Given the description of an element on the screen output the (x, y) to click on. 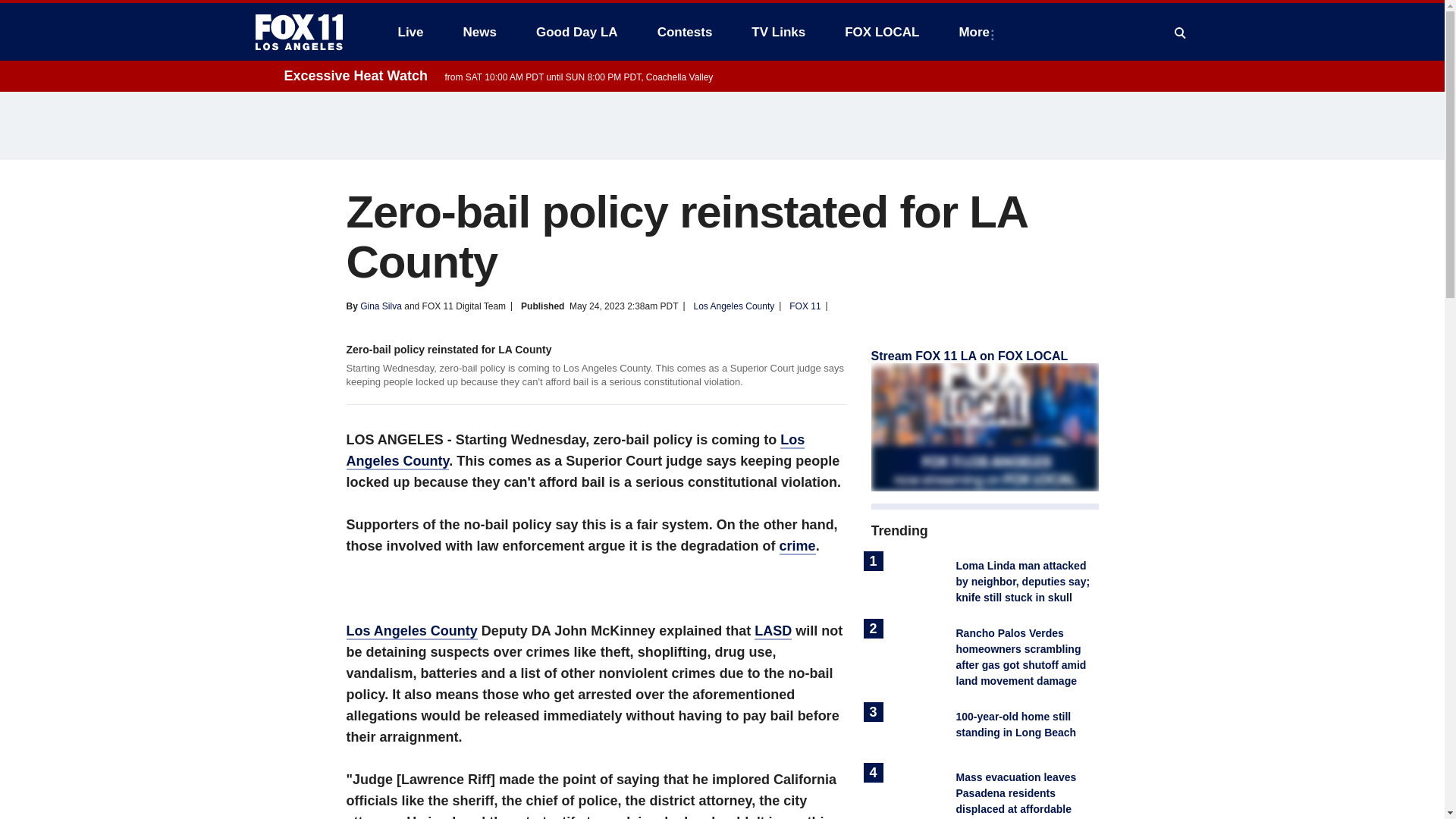
TV Links (777, 32)
News (479, 32)
Live (410, 32)
More (976, 32)
Contests (685, 32)
Good Day LA (577, 32)
FOX LOCAL (881, 32)
